Given the description of an element on the screen output the (x, y) to click on. 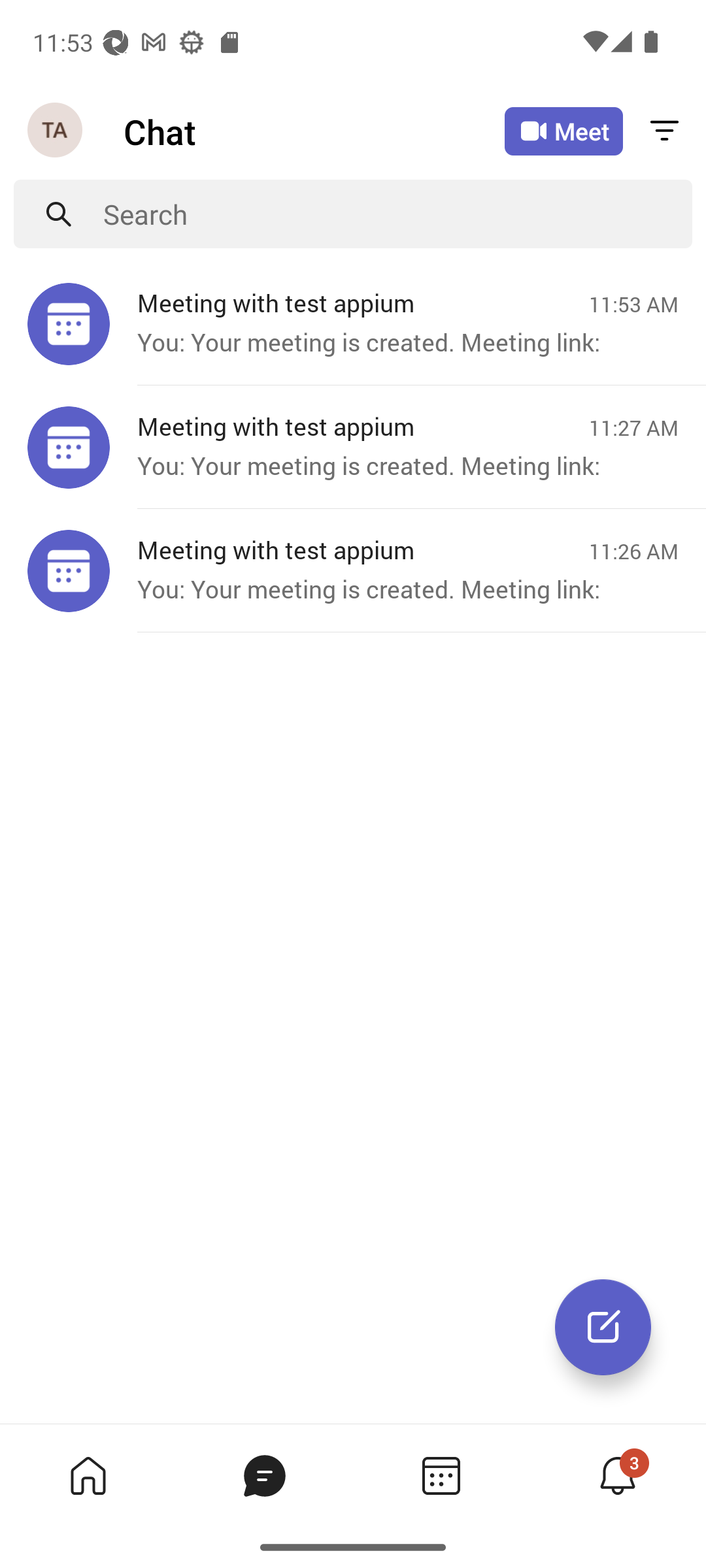
Filter chat messages (664, 131)
Navigation (56, 130)
Meet Meet now or join with an ID (563, 130)
Search (397, 213)
New chat (602, 1327)
Home tab,1 of 4, not selected (88, 1475)
Chat tab, 2 of 4 (264, 1475)
Calendar tab,3 of 4, not selected (441, 1475)
Activity tab,4 of 4, not selected, 3 new 3 (617, 1475)
